Given the description of an element on the screen output the (x, y) to click on. 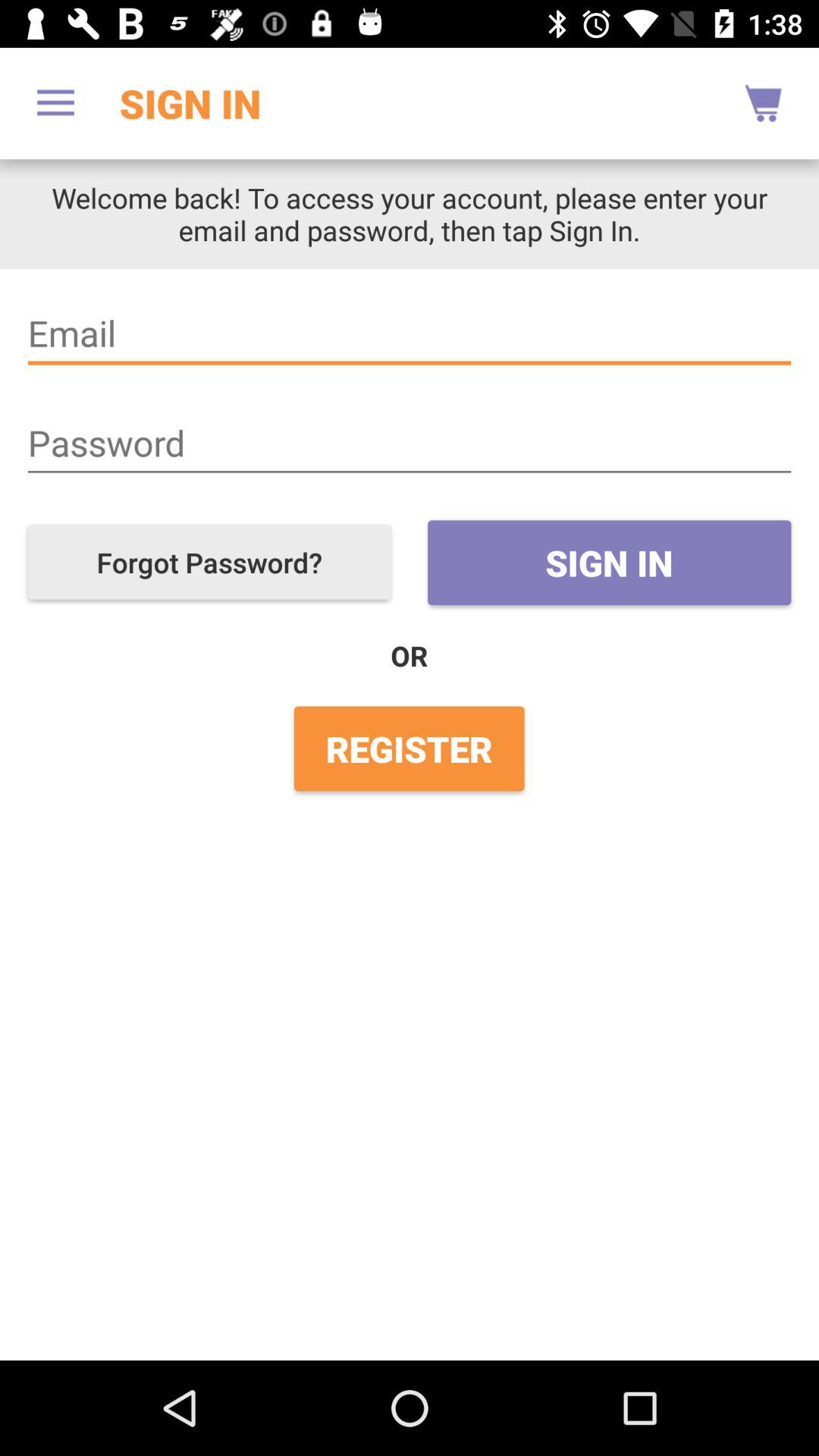
tap the icon below or icon (409, 748)
